Given the description of an element on the screen output the (x, y) to click on. 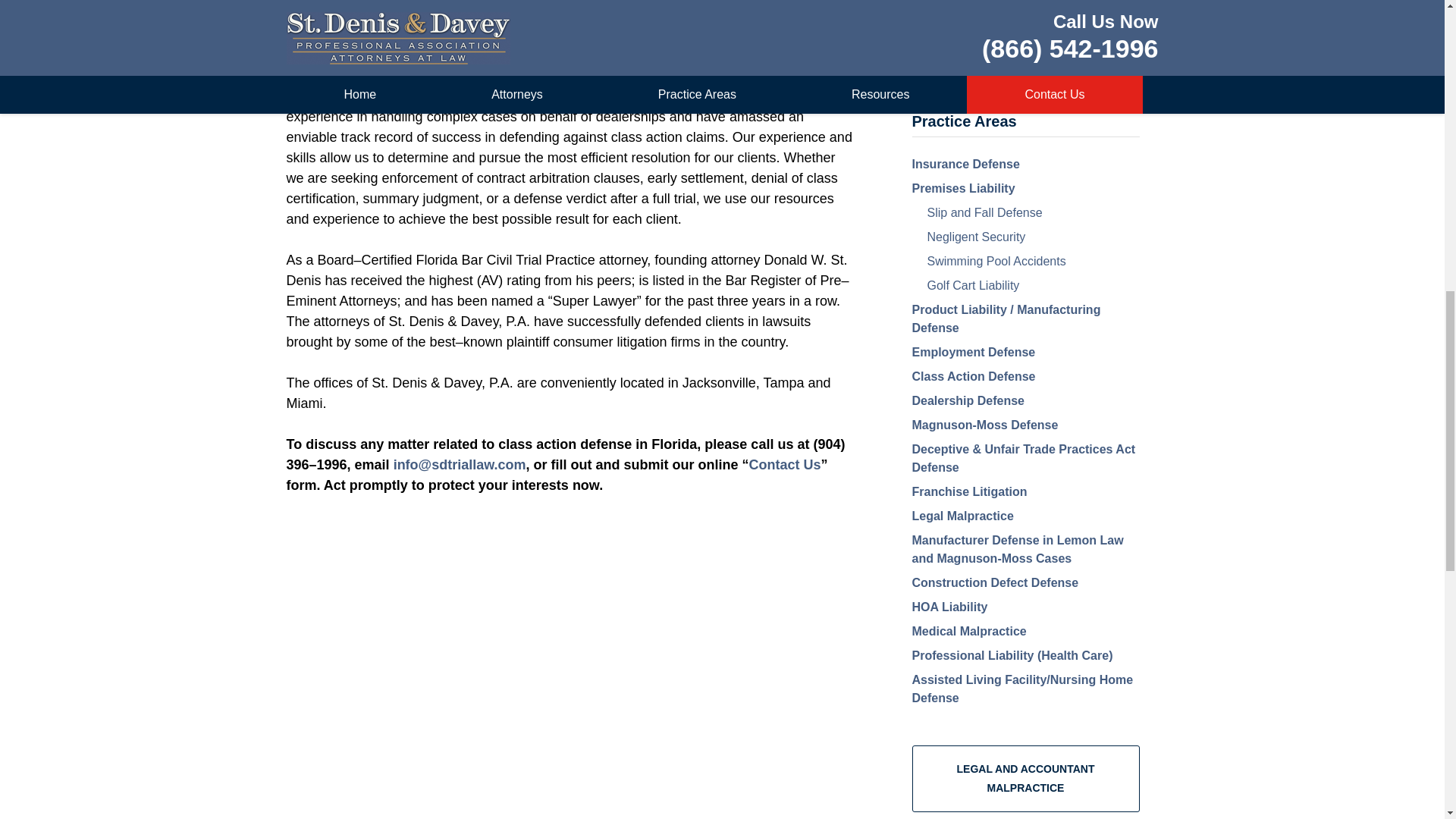
Franchise Litigation (968, 491)
Class Action Defense (973, 376)
Premises Liability (962, 187)
Construction Defect Defense (994, 582)
Slip and Fall Defense (984, 212)
CONTACT US NOW (1024, 36)
Golf Cart Liability (972, 285)
Medical Malpractice (968, 631)
Manufacturer Defense in Lemon Law and Magnuson-Moss Cases (1016, 549)
HOA Liability (949, 606)
Practice Areas (963, 121)
Negligent Security (975, 237)
Swimming Pool Accidents (995, 261)
Contact Us (785, 464)
Legal Malpractice (962, 515)
